Given the description of an element on the screen output the (x, y) to click on. 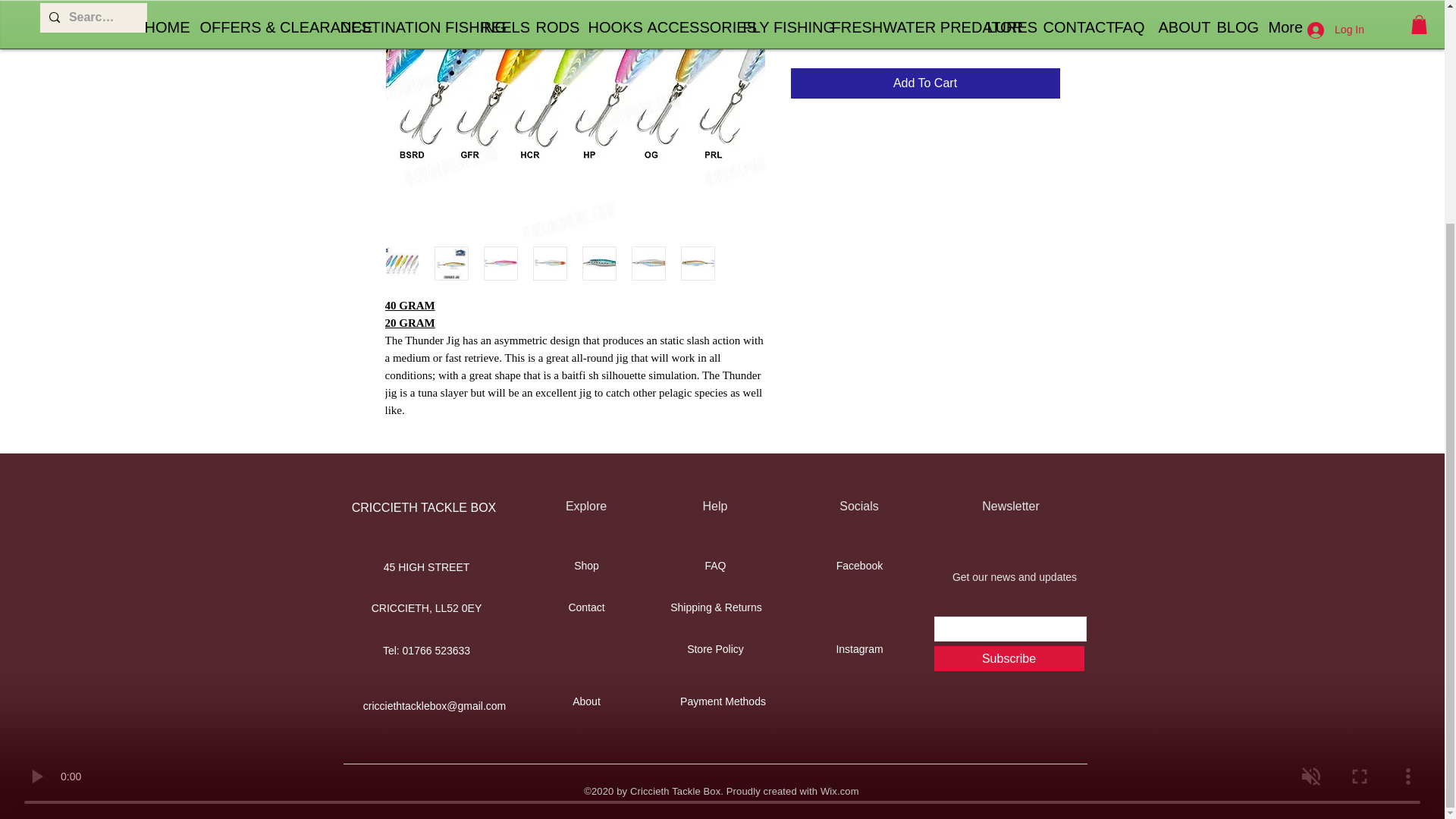
1 (818, 29)
